Given the description of an element on the screen output the (x, y) to click on. 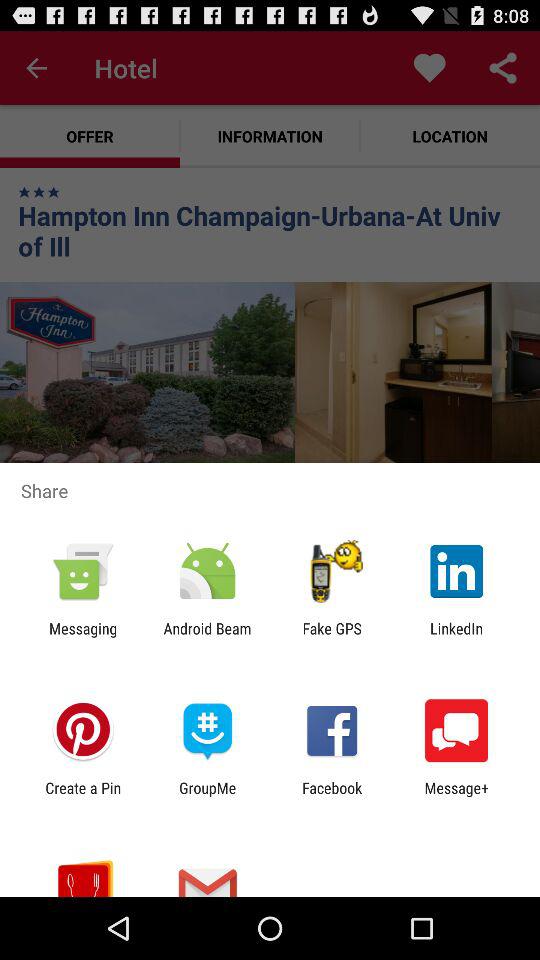
select app next to facebook item (456, 796)
